Given the description of an element on the screen output the (x, y) to click on. 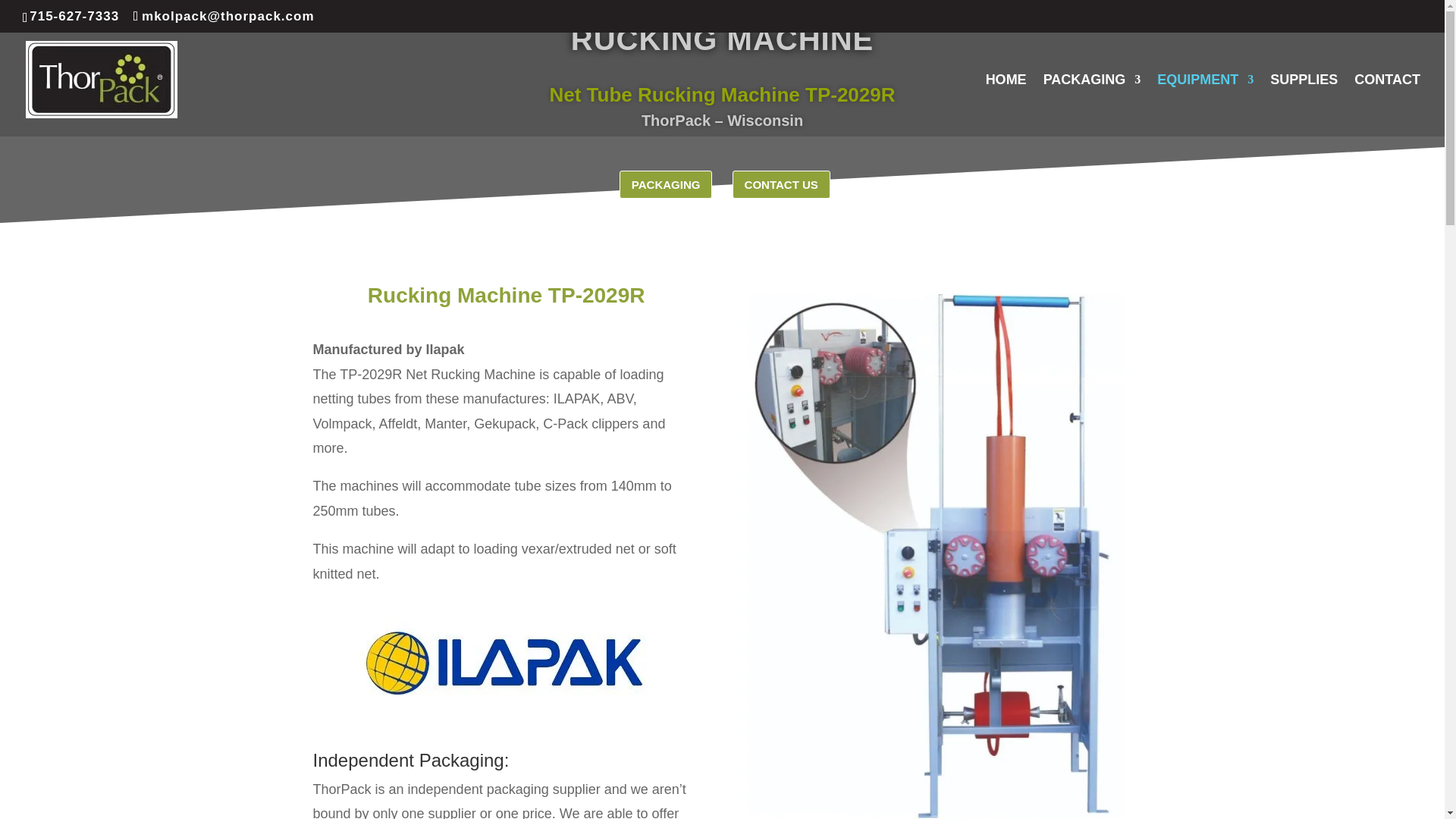
715-627-7333 (74, 16)
EQUIPMENT (1205, 105)
SUPPLIES (1303, 105)
CONTACT (1387, 105)
PACKAGING (1092, 105)
